Given the description of an element on the screen output the (x, y) to click on. 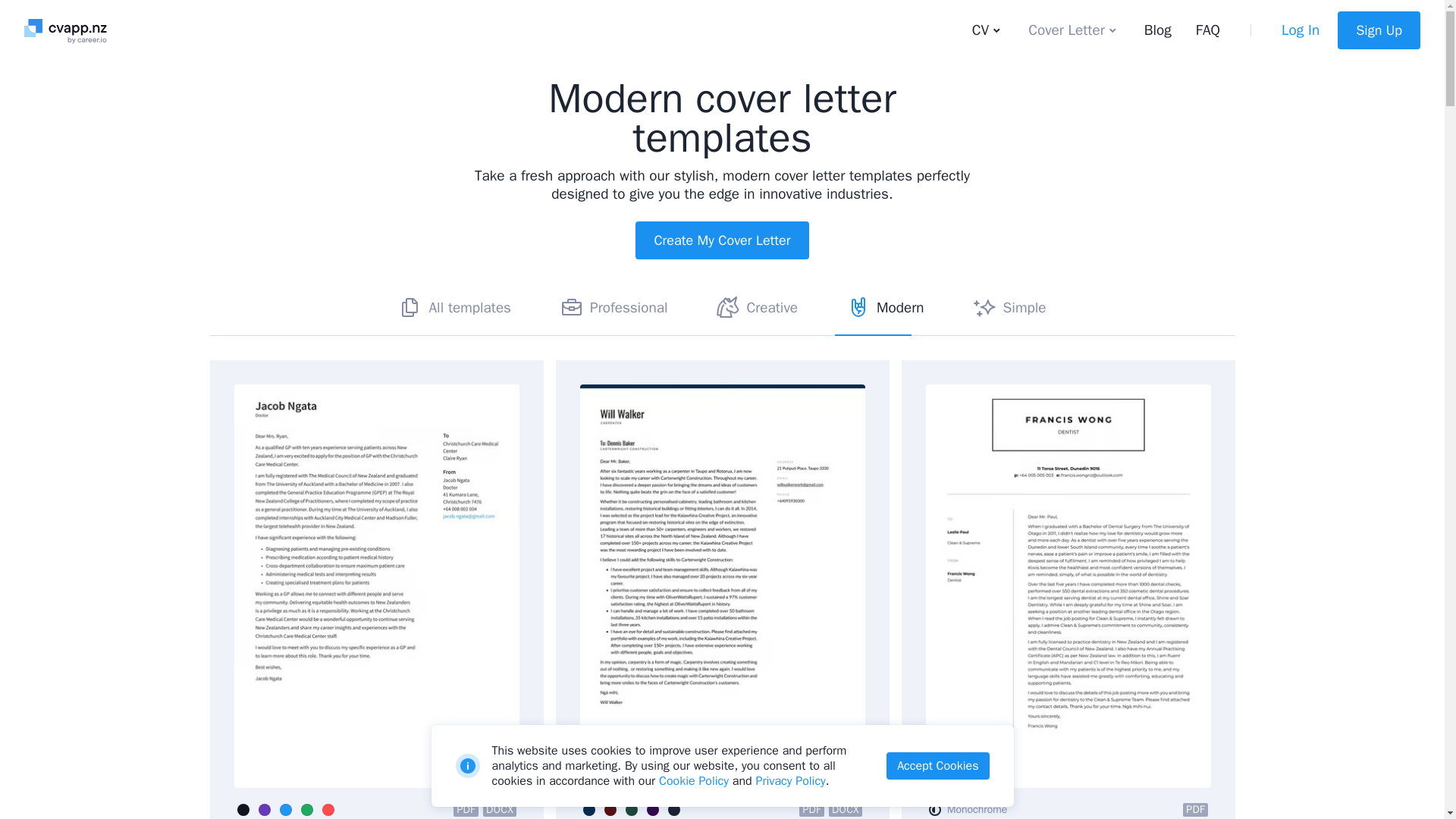
Log In (1300, 30)
Sign Up (1379, 30)
Cover Letter (1074, 30)
CV (987, 30)
